Given the description of an element on the screen output the (x, y) to click on. 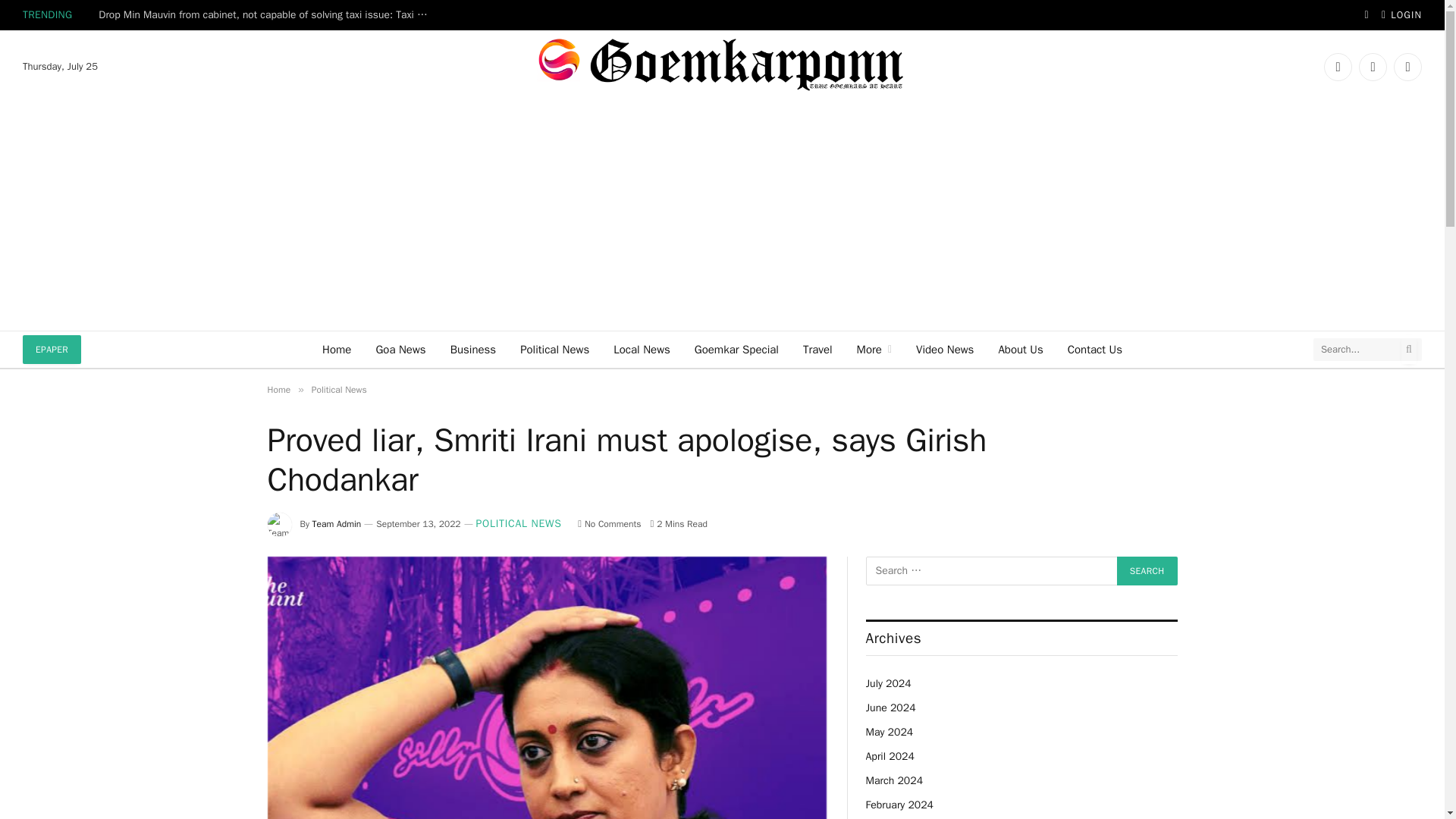
Posts by Team Admin (337, 523)
Instagram (1407, 67)
Goemkar Special (736, 349)
Home (336, 349)
Switch to Dark Design - easier on eyes. (1366, 14)
Video News (944, 349)
More (874, 349)
Local News (641, 349)
Business (473, 349)
LOGIN (1401, 15)
Facebook (1337, 67)
Travel (817, 349)
Search (1146, 570)
